Given the description of an element on the screen output the (x, y) to click on. 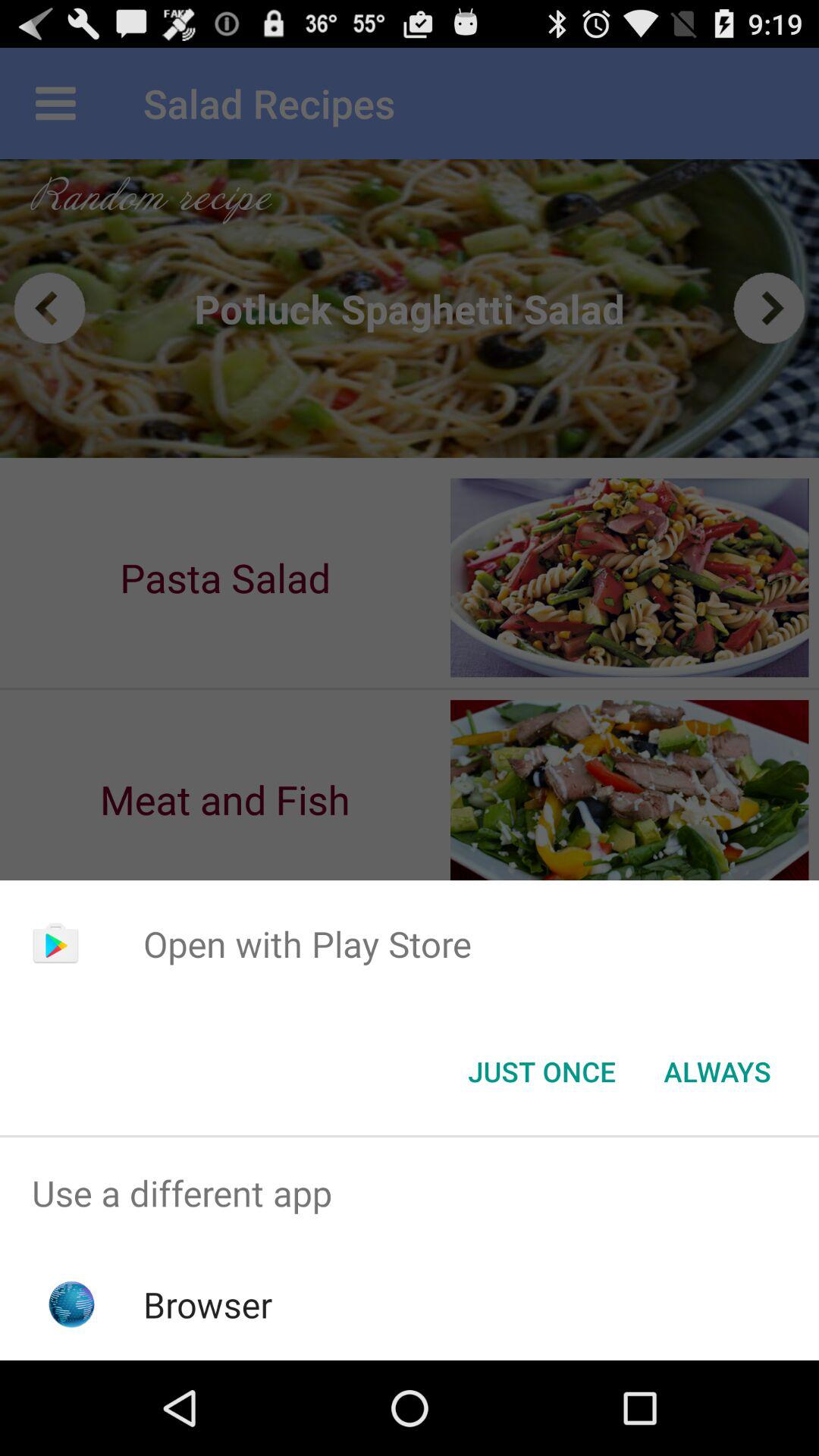
press the icon to the left of the always (541, 1071)
